Given the description of an element on the screen output the (x, y) to click on. 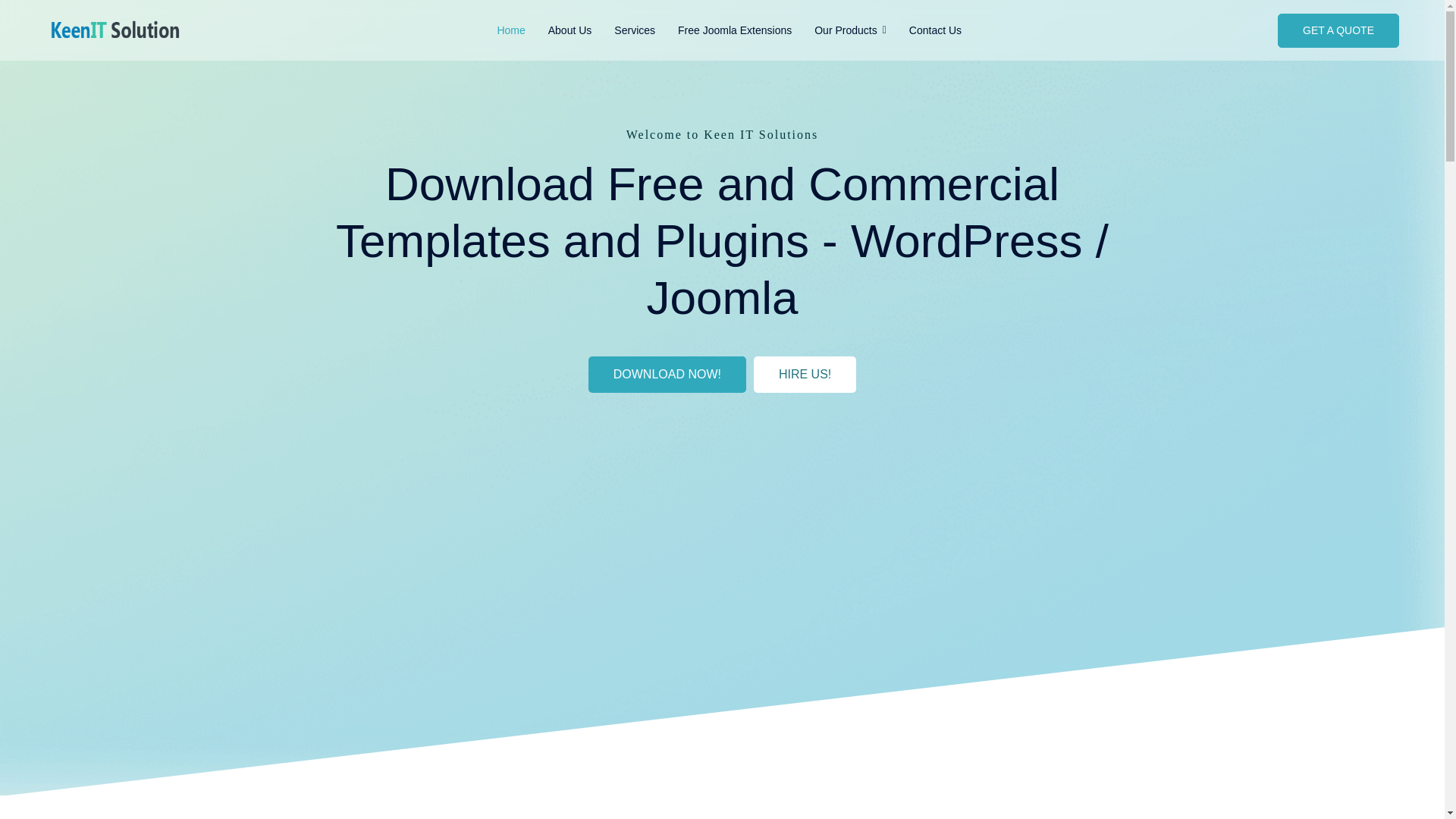
DOWNLOAD NOW! (666, 374)
Contact Us (935, 30)
GET A QUOTE (1338, 30)
Our Products (850, 30)
Free Joomla Extensions (734, 30)
HIRE US! (805, 374)
Services (634, 30)
About Us (570, 30)
